Given the description of an element on the screen output the (x, y) to click on. 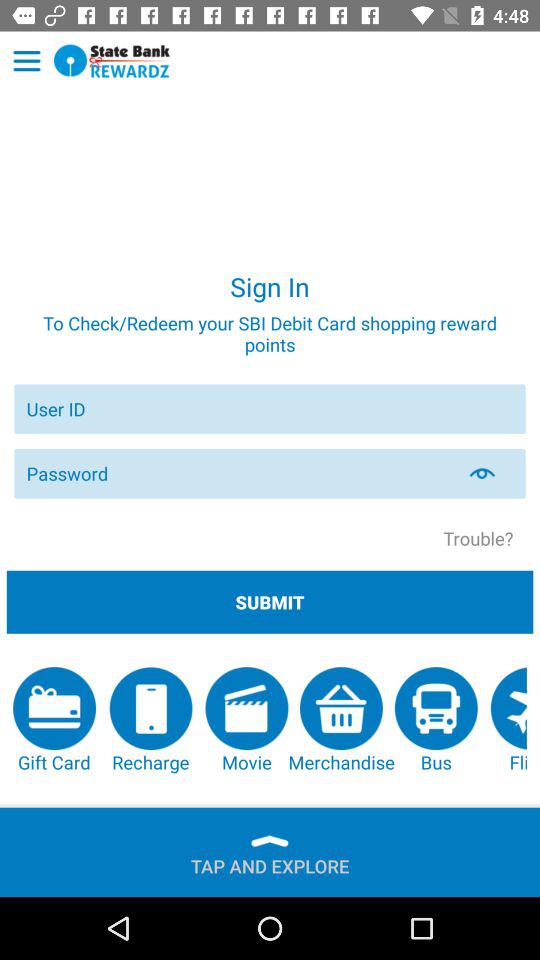
password entry (237, 473)
